Given the description of an element on the screen output the (x, y) to click on. 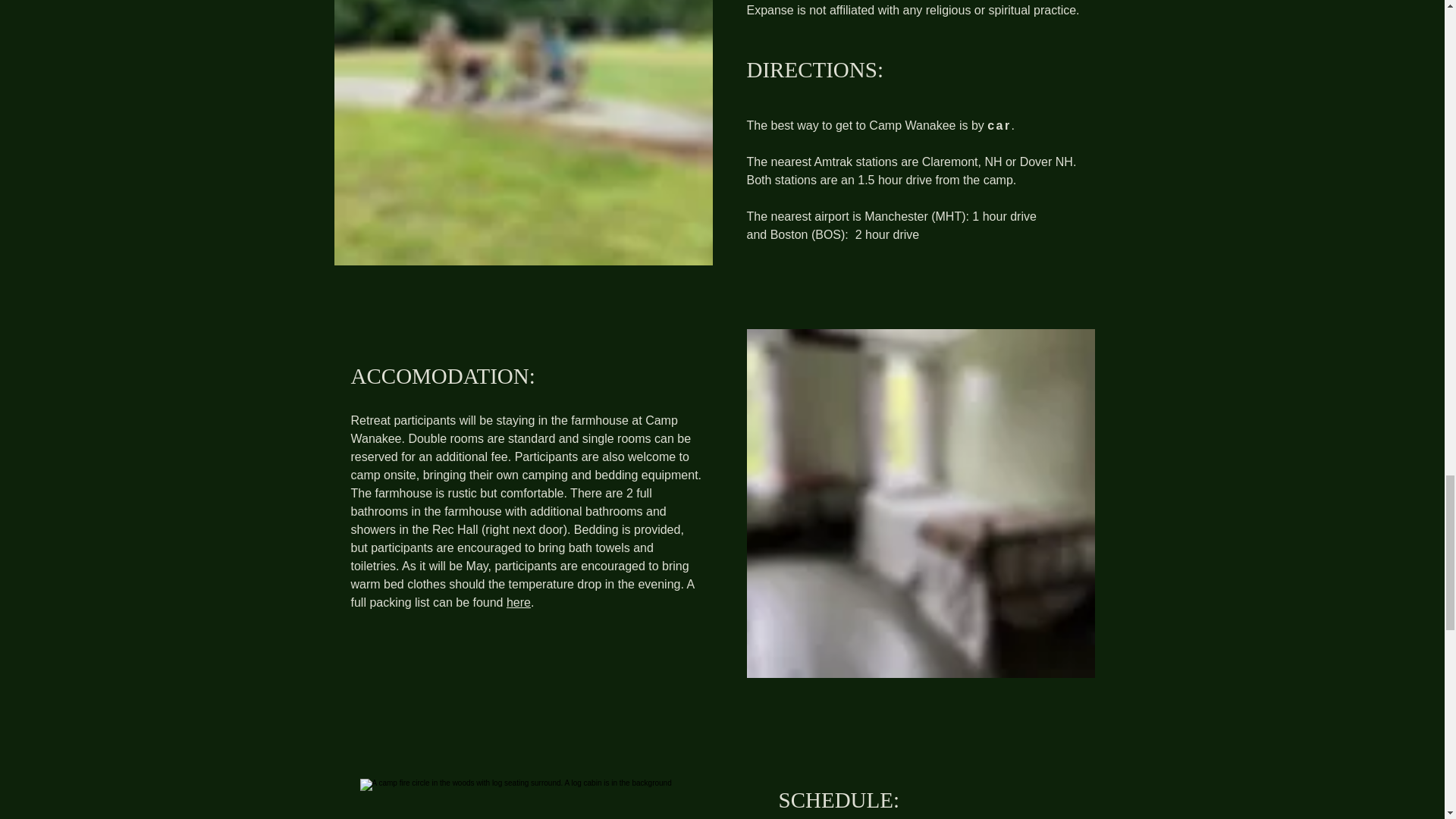
here (518, 602)
